Given the description of an element on the screen output the (x, y) to click on. 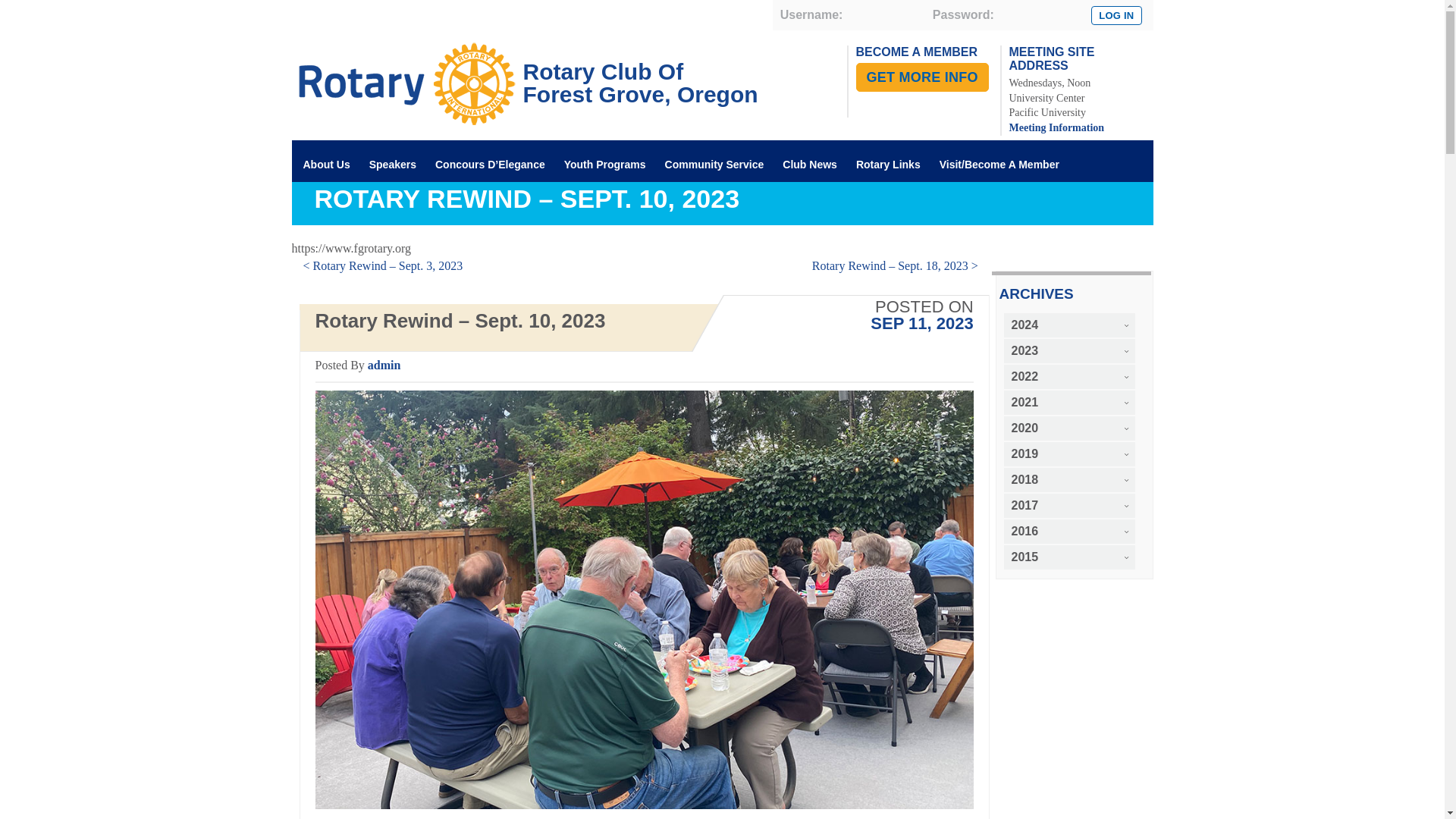
About Us (325, 166)
Speakers (392, 166)
GET MORE INFO (922, 77)
Youth Programs (604, 166)
admin (384, 364)
Club News (809, 166)
SEP 11, 2023 (921, 322)
Rotary Club of Forest Grove, Ore., USA (524, 71)
11:05 am (921, 322)
log In (1115, 15)
Rotary Links (887, 166)
DONATE HERE (524, 71)
Meeting Information (340, 208)
log In (1056, 127)
